Given the description of an element on the screen output the (x, y) to click on. 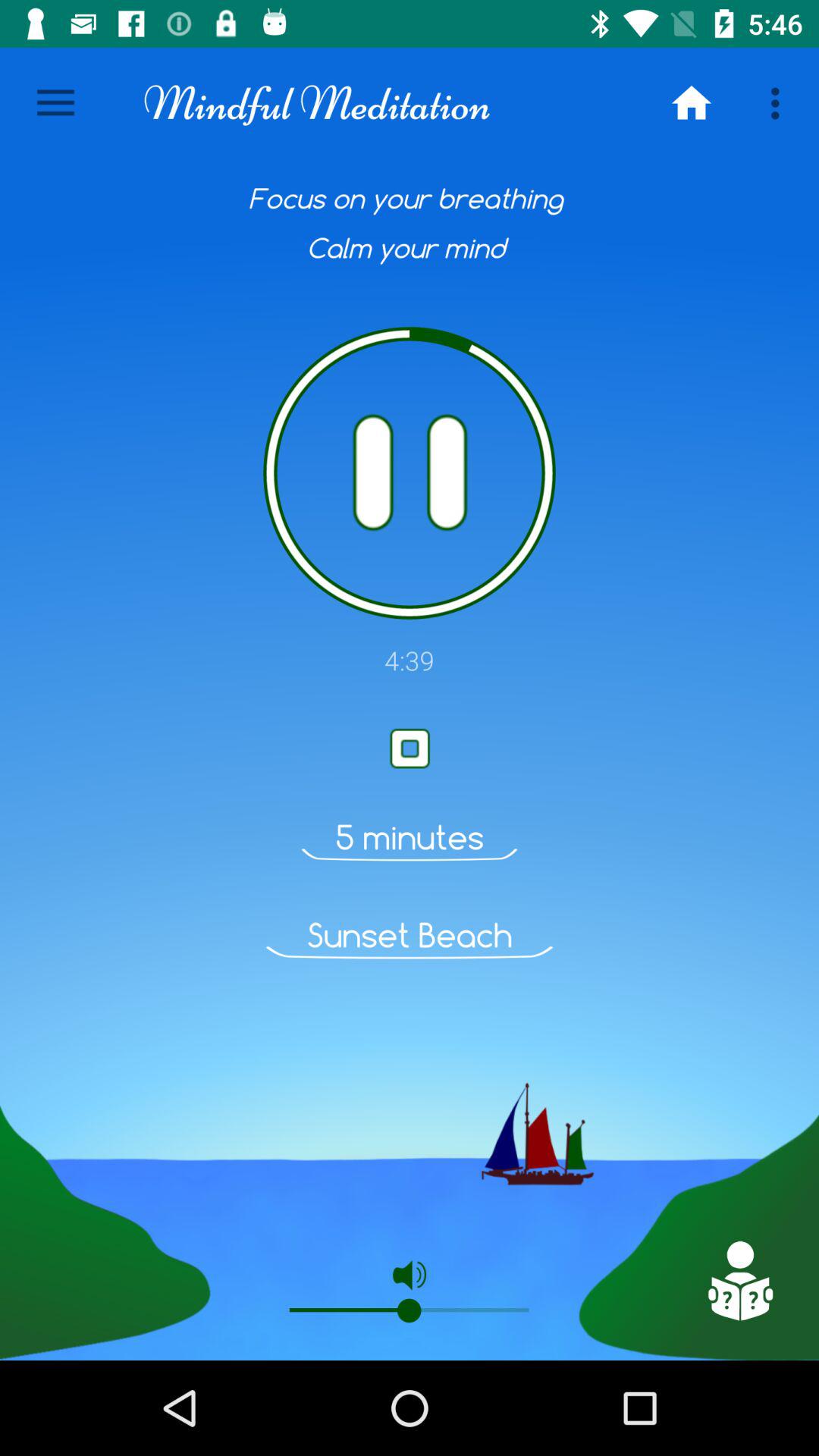
stop (409, 748)
